Given the description of an element on the screen output the (x, y) to click on. 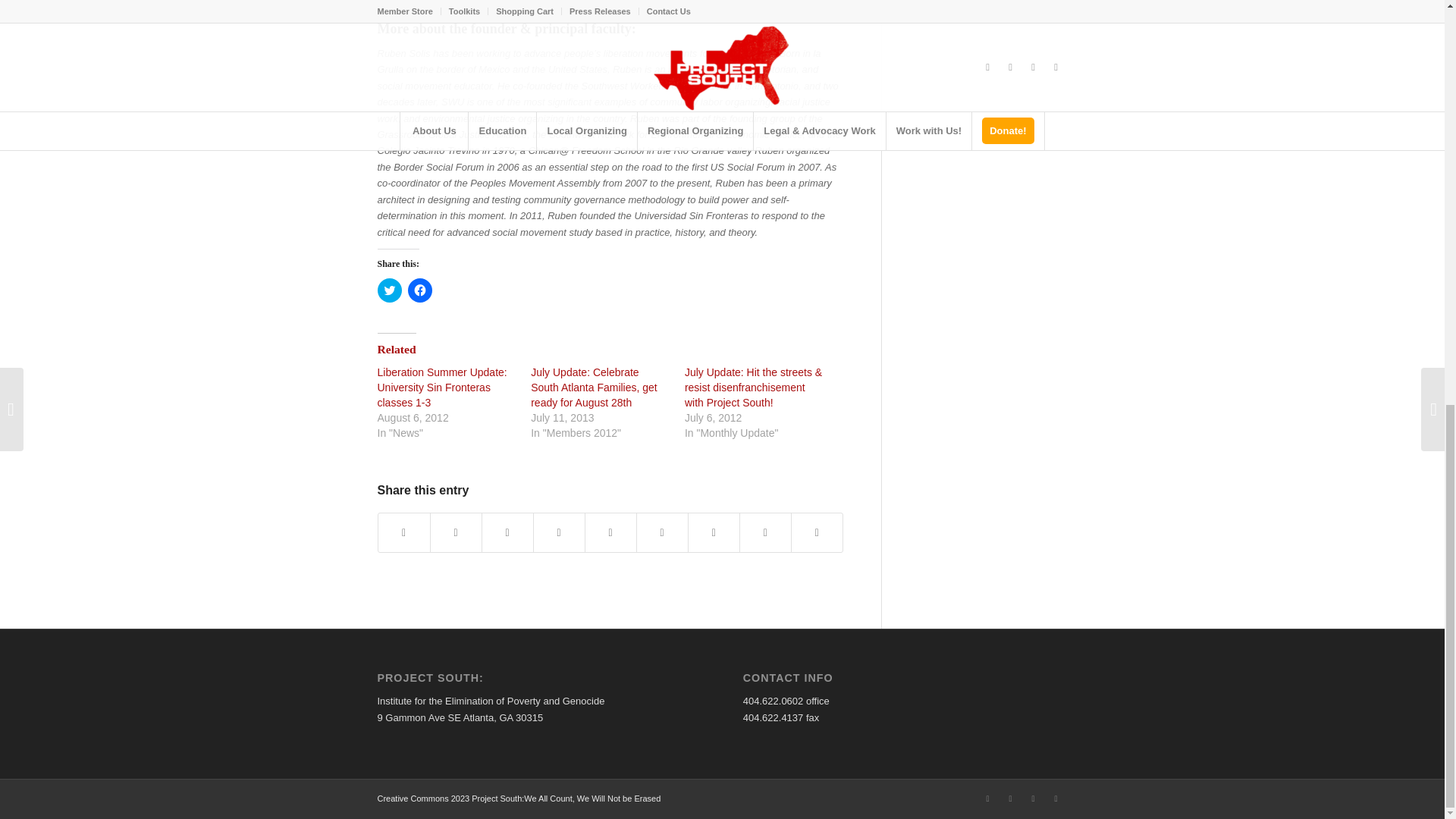
Click to share on Facebook (419, 290)
Click to share on Twitter (389, 290)
